Given the description of an element on the screen output the (x, y) to click on. 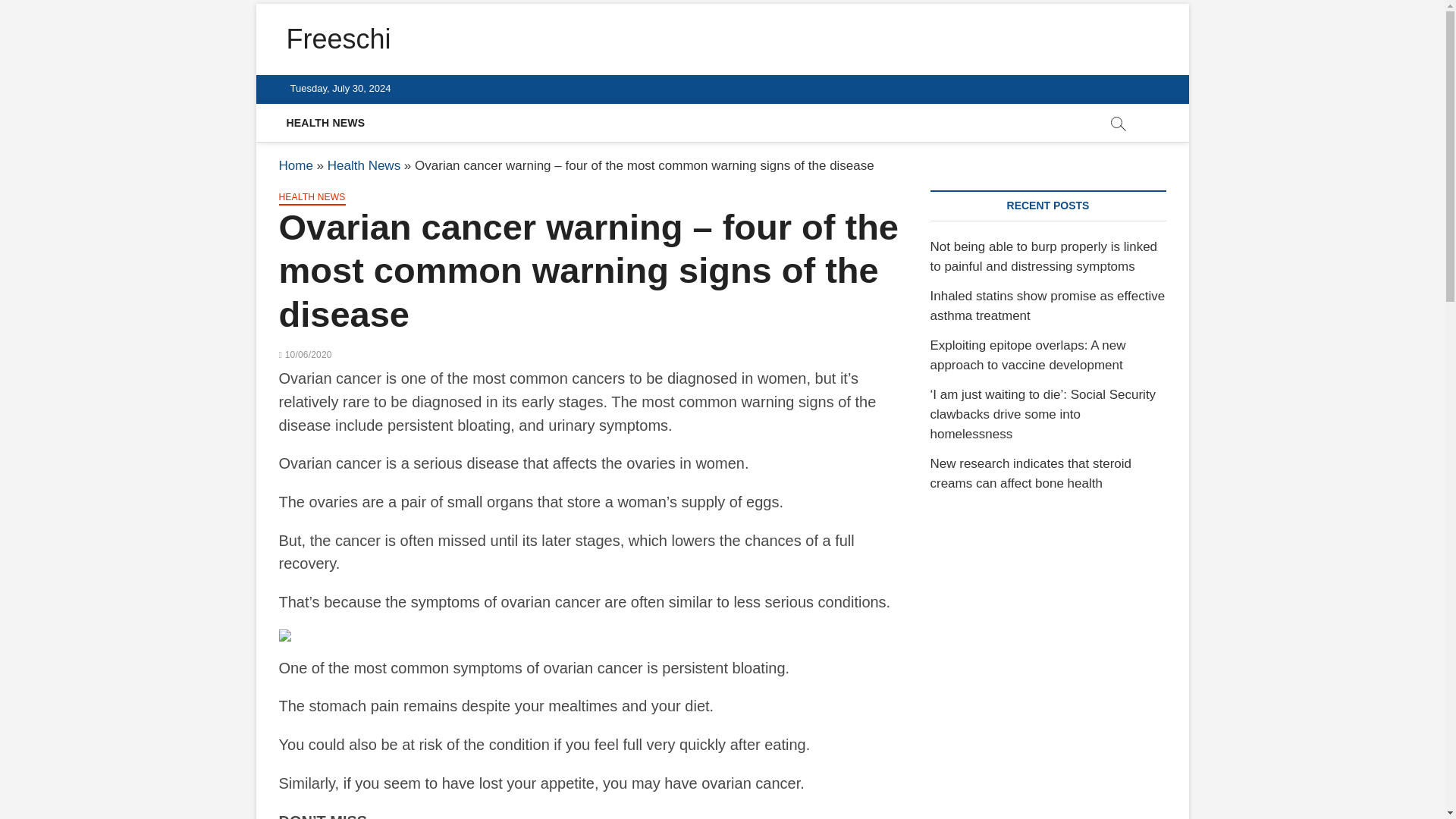
Freeschi (338, 39)
Freeschi (338, 39)
HEALTH NEWS (325, 122)
Home (296, 165)
HEALTH NEWS (312, 198)
Health News (363, 165)
Inhaled statins show promise as effective asthma treatment (1047, 305)
